Given the description of an element on the screen output the (x, y) to click on. 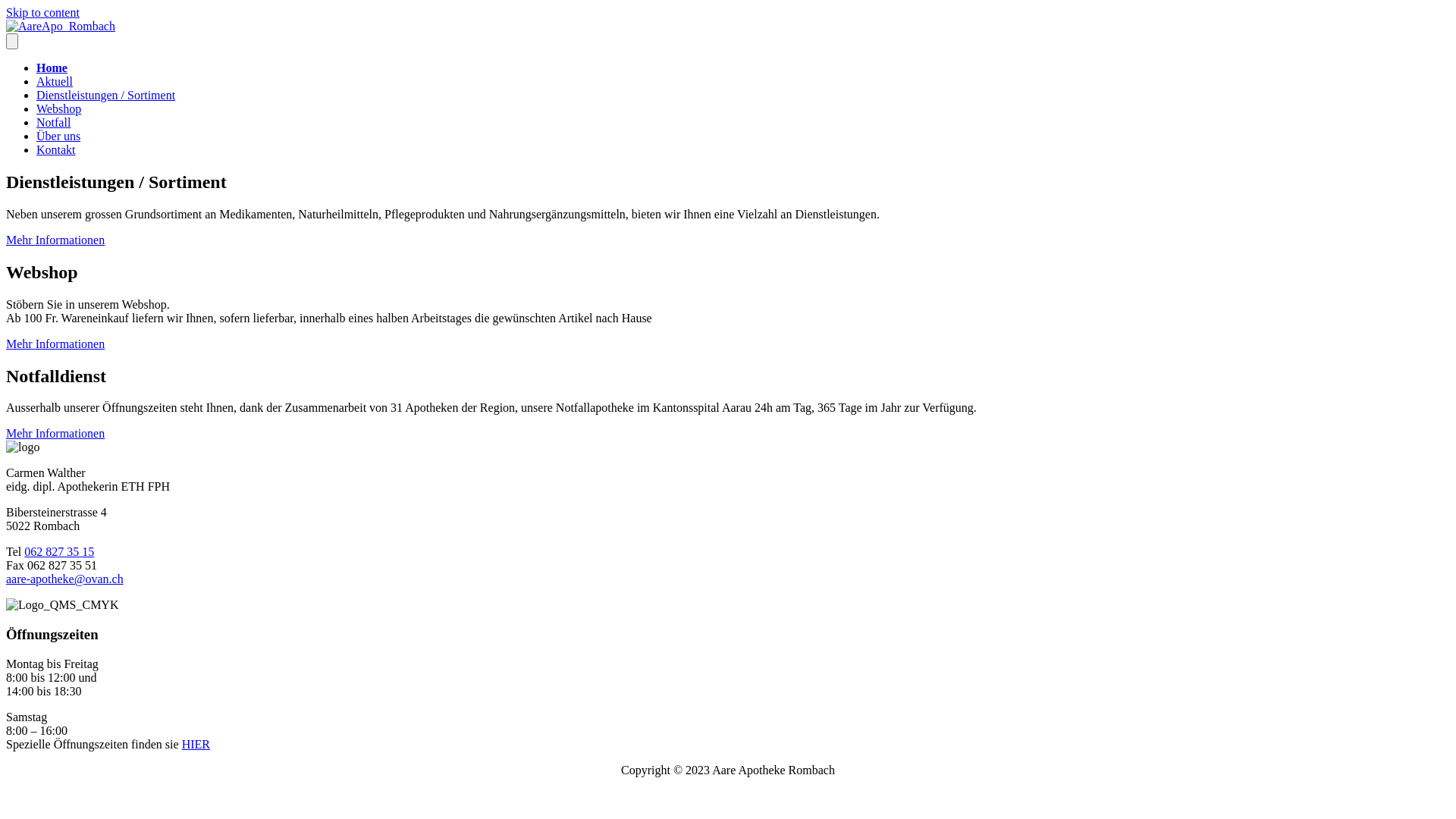
Kontakt Element type: text (55, 149)
Mehr Informationen Element type: text (55, 432)
062 827 35 15 Element type: text (59, 551)
Dienstleistungen / Sortiment Element type: text (105, 94)
Mehr Informationen Element type: text (55, 343)
Mehr Informationen Element type: text (55, 239)
Notfall Element type: text (53, 122)
Aktuell Element type: text (54, 81)
HIER Element type: text (196, 743)
logo Element type: hover (22, 447)
aare-apotheke@ovan.ch Element type: text (64, 578)
Home Element type: text (51, 67)
Skip to content Element type: text (42, 12)
Webshop Element type: text (58, 108)
Logo_QMS_CMYK Element type: hover (62, 604)
AareApo_Rombach Element type: hover (60, 26)
